Given the description of an element on the screen output the (x, y) to click on. 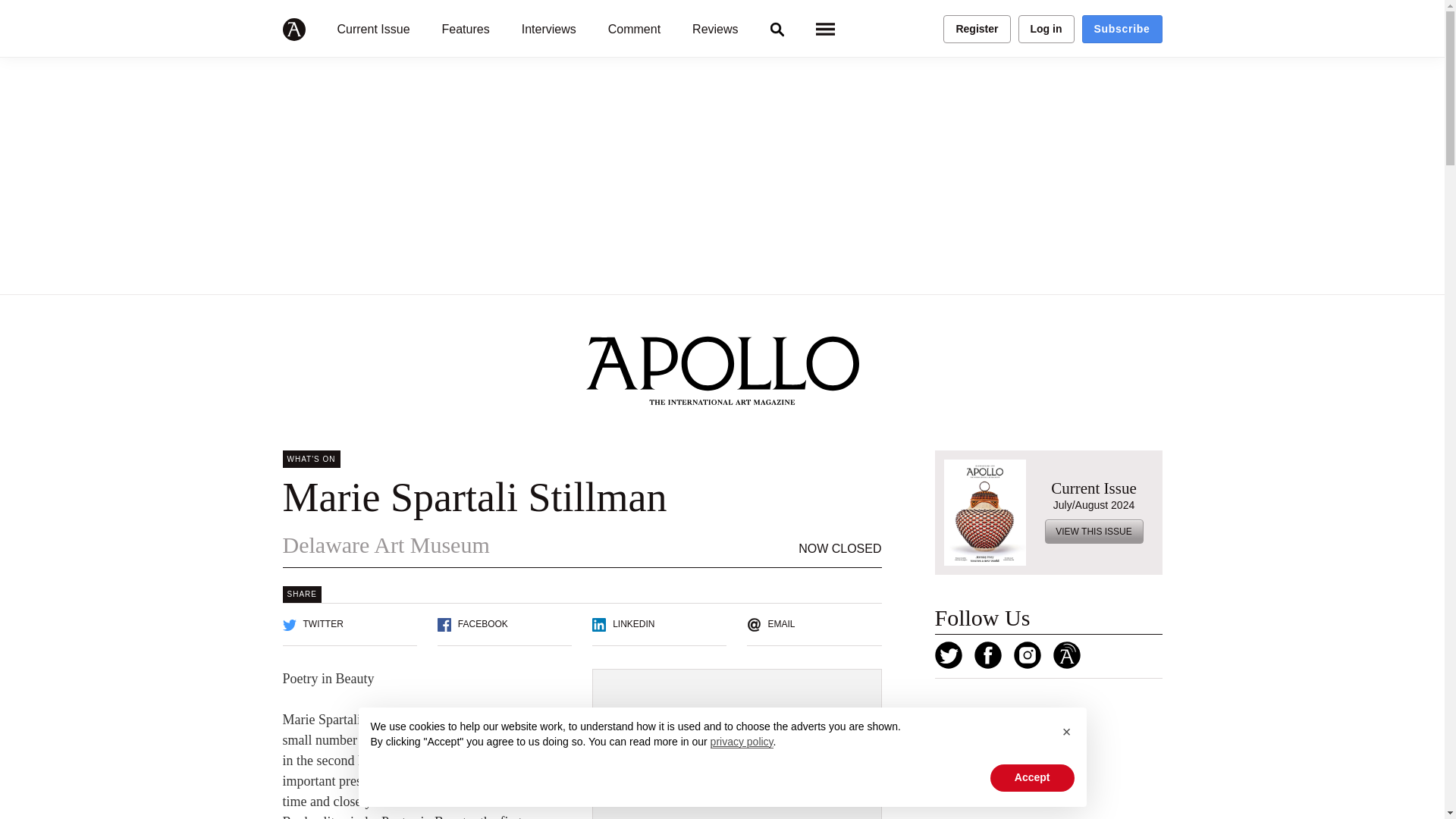
3rd party ad content (1047, 760)
WHAT'S ON (310, 458)
Apollo (293, 29)
Register (976, 29)
Nav toggle (824, 28)
Comment (634, 29)
privacy policy (741, 741)
Interviews (548, 29)
Subscribe (1121, 29)
Apollo (293, 29)
Log in (1045, 29)
Nav toggle (824, 28)
Reviews (715, 29)
Features (465, 29)
